Given the description of an element on the screen output the (x, y) to click on. 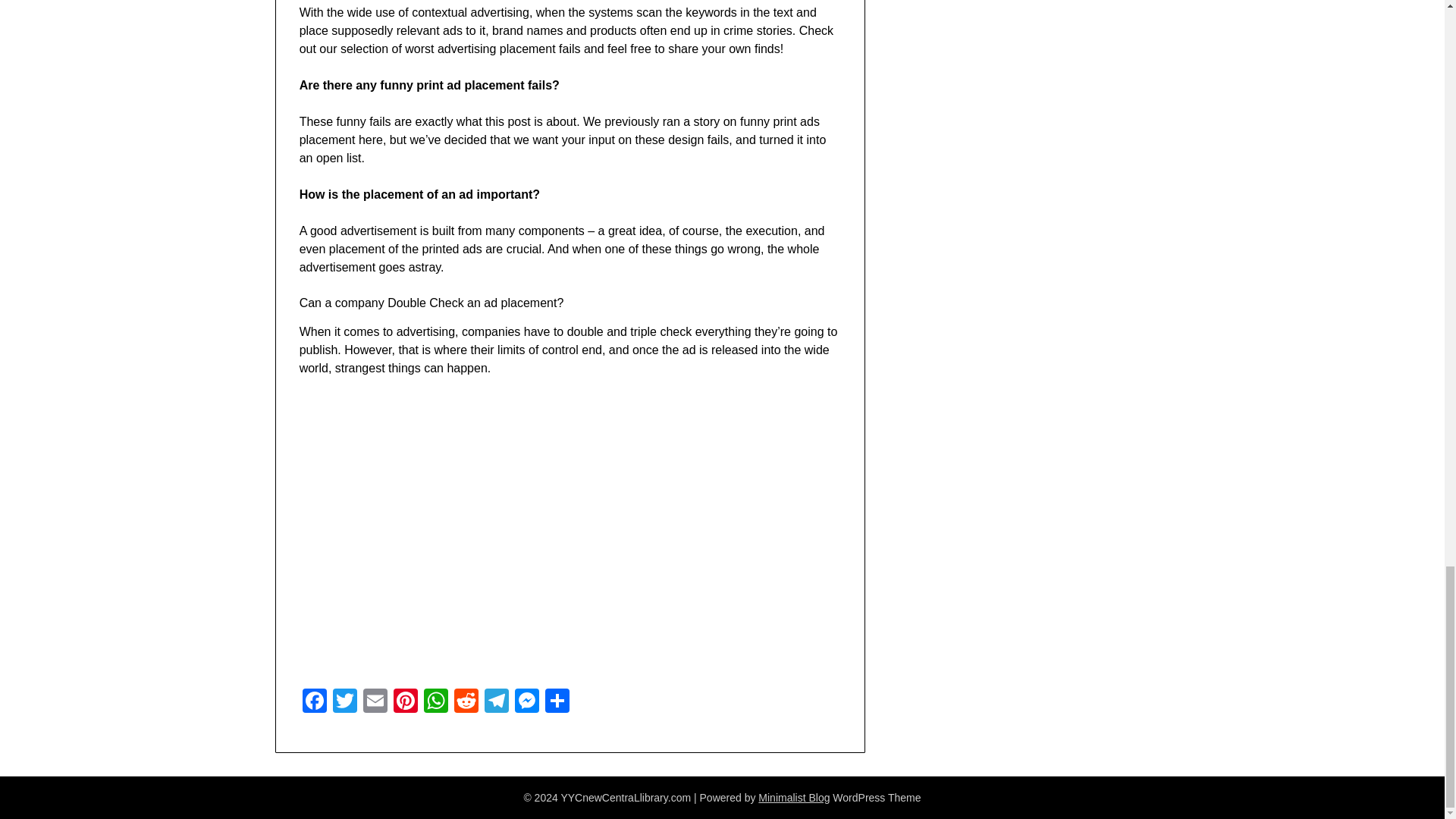
Messenger (526, 702)
Pinterest (405, 702)
Pinterest (405, 702)
Reddit (466, 702)
Twitter (344, 702)
Facebook (314, 702)
Telegram (496, 702)
Email (374, 702)
Facebook (314, 702)
WhatsApp (435, 702)
